Given the description of an element on the screen output the (x, y) to click on. 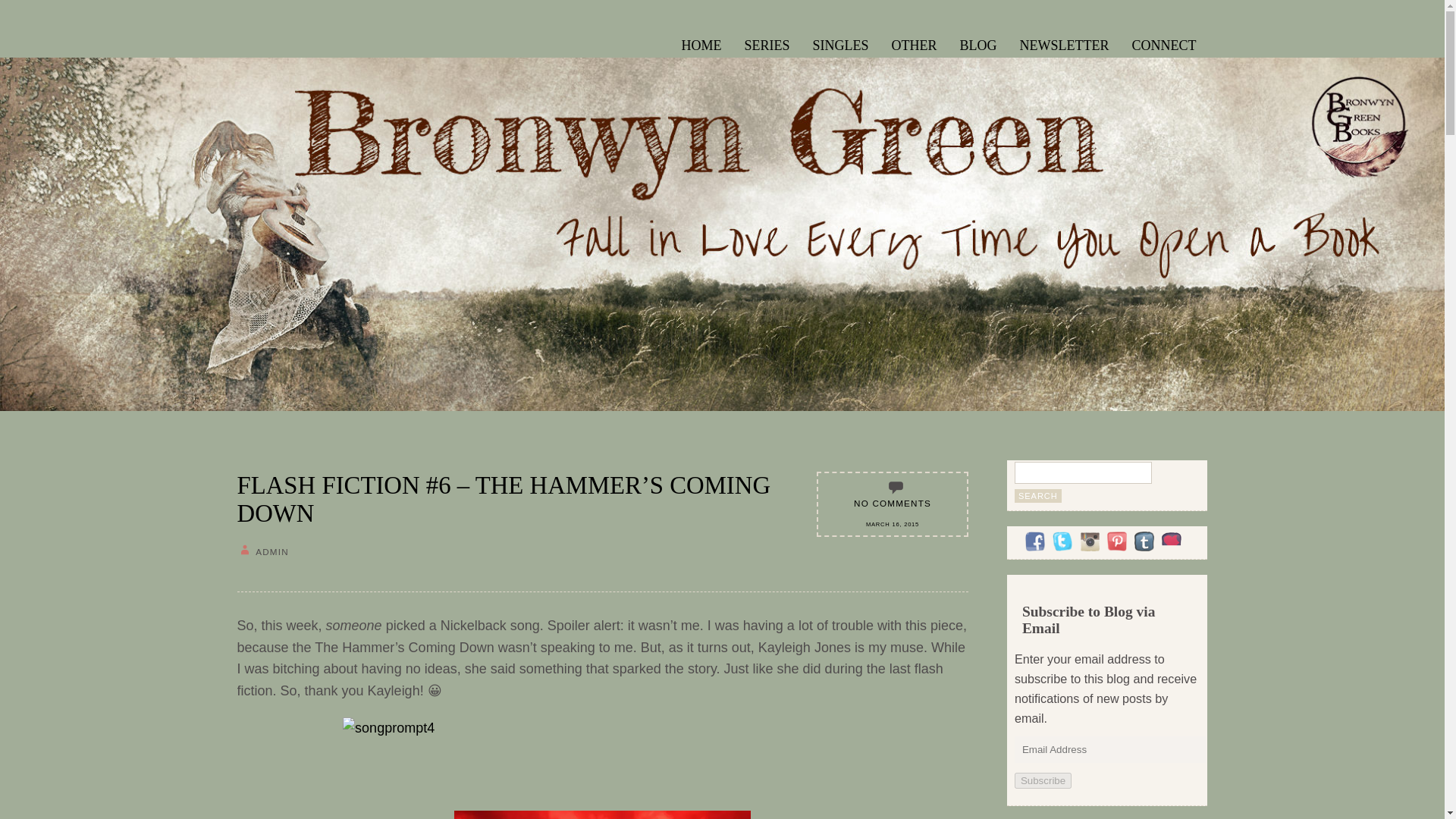
NEWSLETTER (1065, 43)
NO COMMENTS (892, 502)
Follow Us on Facebook (1035, 541)
OTHER (914, 43)
Follow Us on Instagram (1089, 541)
Search (1037, 495)
BLOG (979, 43)
HOME (700, 43)
BRONWYN GREEN (313, 58)
SERIES (766, 43)
Follow Us on Twitter (1061, 541)
CONNECT (1164, 43)
MARCH 16, 2015 (892, 523)
SINGLES (839, 43)
